Given the description of an element on the screen output the (x, y) to click on. 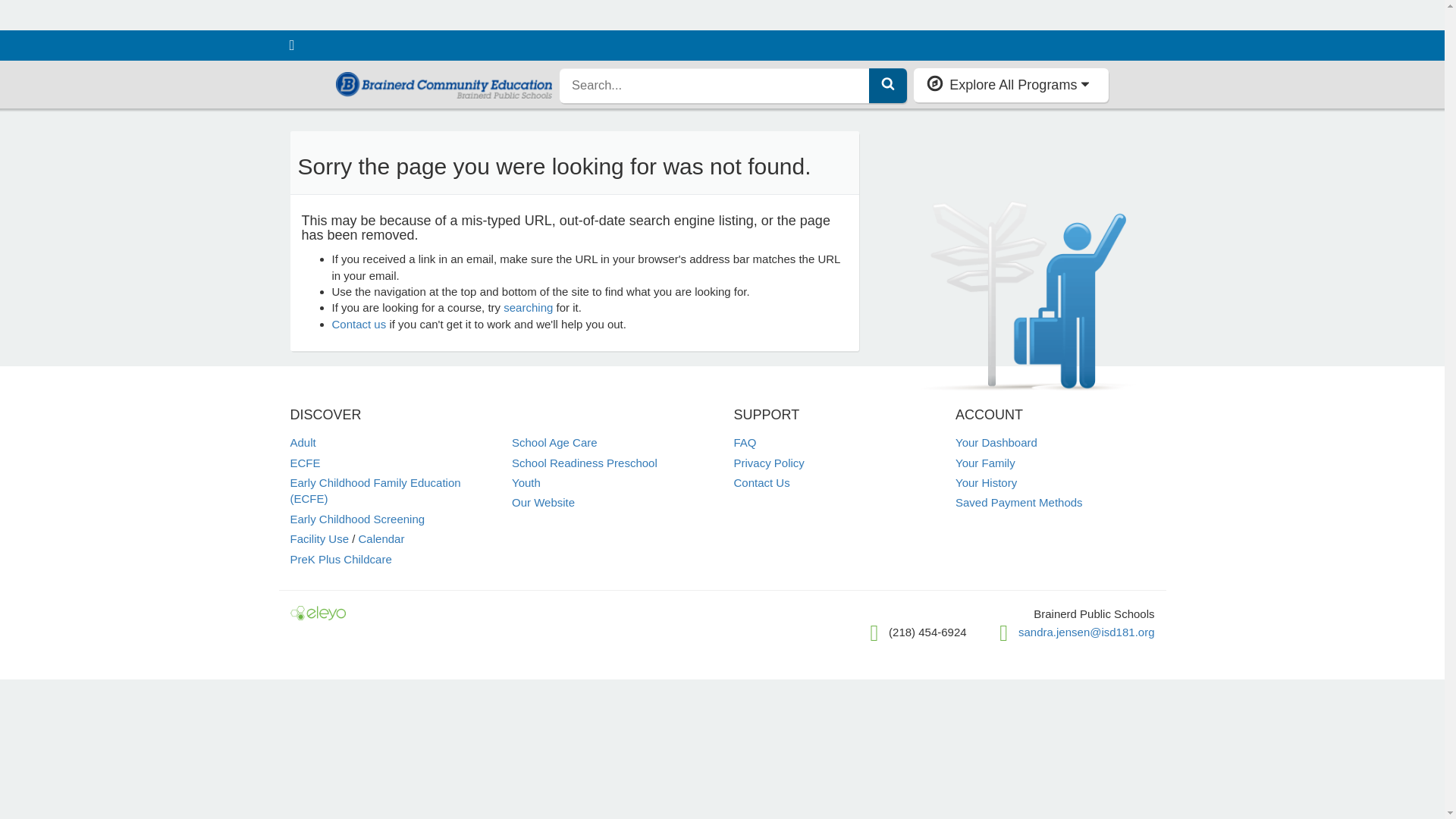
 Search Icon (887, 83)
 Compass Icon (934, 83)
Explore All Programs (1011, 84)
 Caret Down Icon (1085, 83)
